Given the description of an element on the screen output the (x, y) to click on. 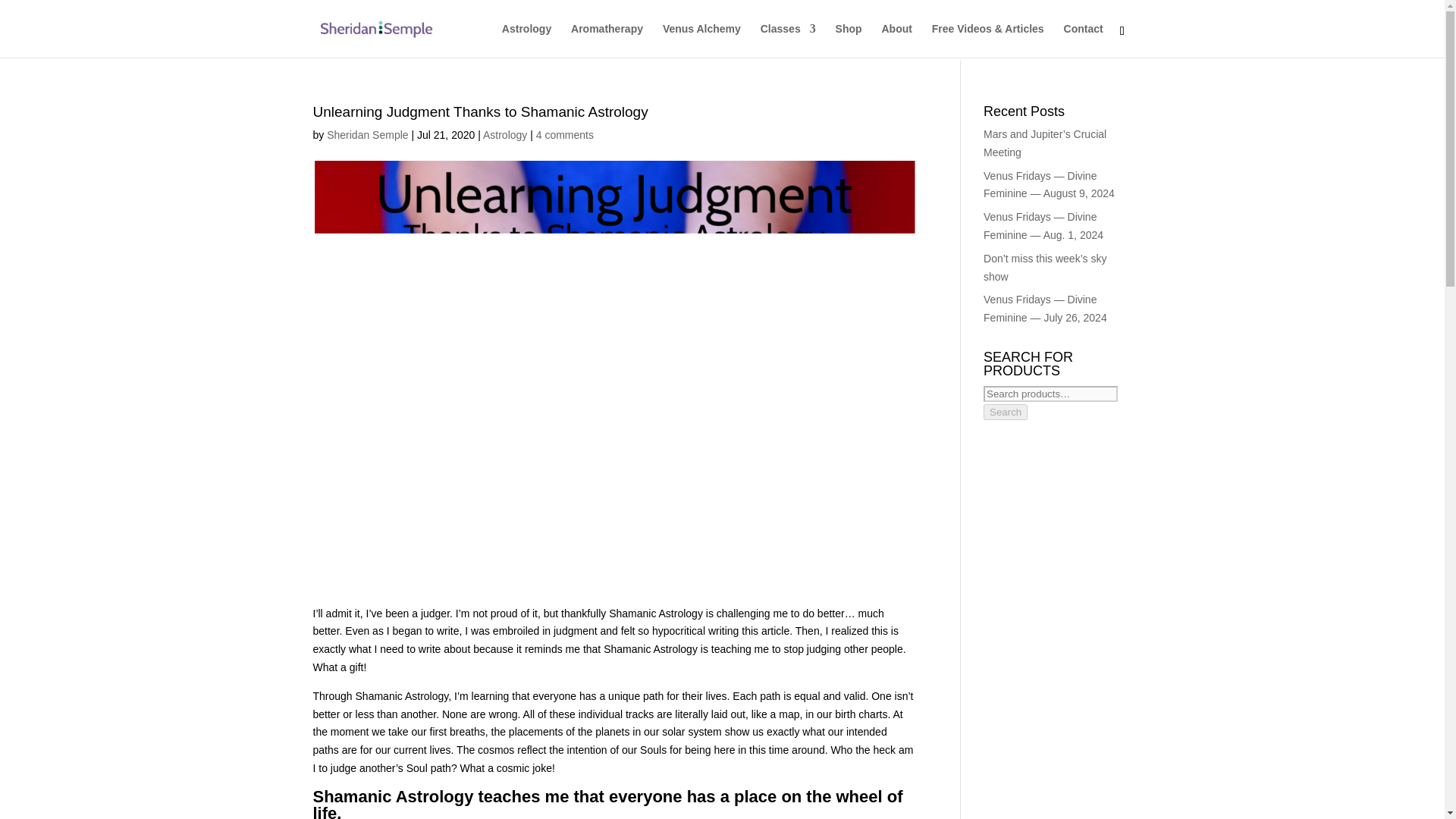
Venus Alchemy (701, 40)
Contact (1083, 40)
Sheridan Semple (366, 134)
Astrology (505, 134)
4 comments (564, 134)
Aromatherapy (606, 40)
Classes (787, 40)
Search (1005, 412)
Astrology (526, 40)
Posts by Sheridan Semple (366, 134)
